Given the description of an element on the screen output the (x, y) to click on. 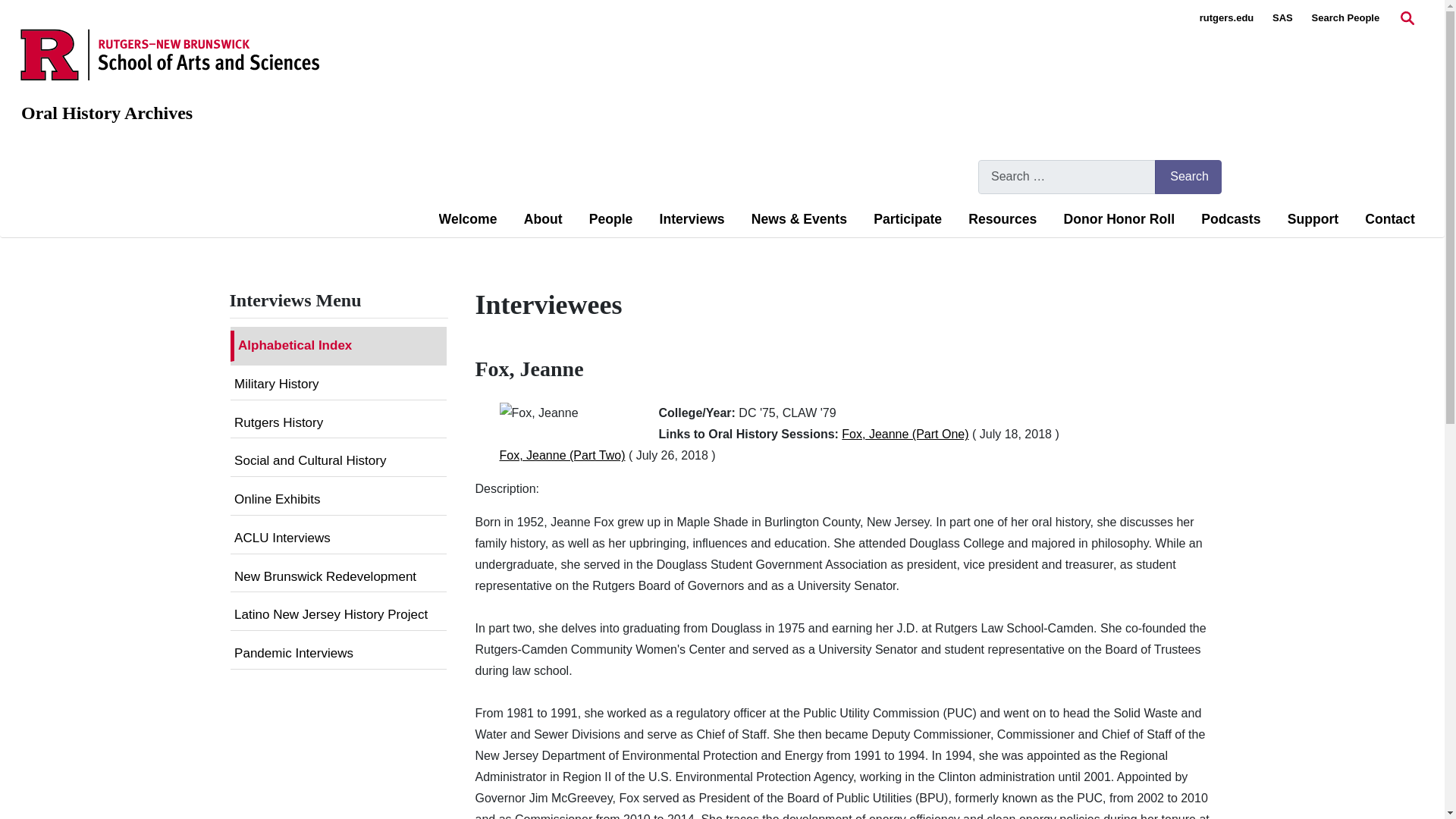
Resources (1002, 219)
About (543, 219)
Interviews (692, 219)
Donor Honor Roll (1118, 219)
People (611, 219)
Participate (907, 219)
Welcome (468, 219)
rutgers.edu (1226, 17)
Oral History Archives (106, 112)
Search (1187, 176)
Search People (1345, 17)
